Given the description of an element on the screen output the (x, y) to click on. 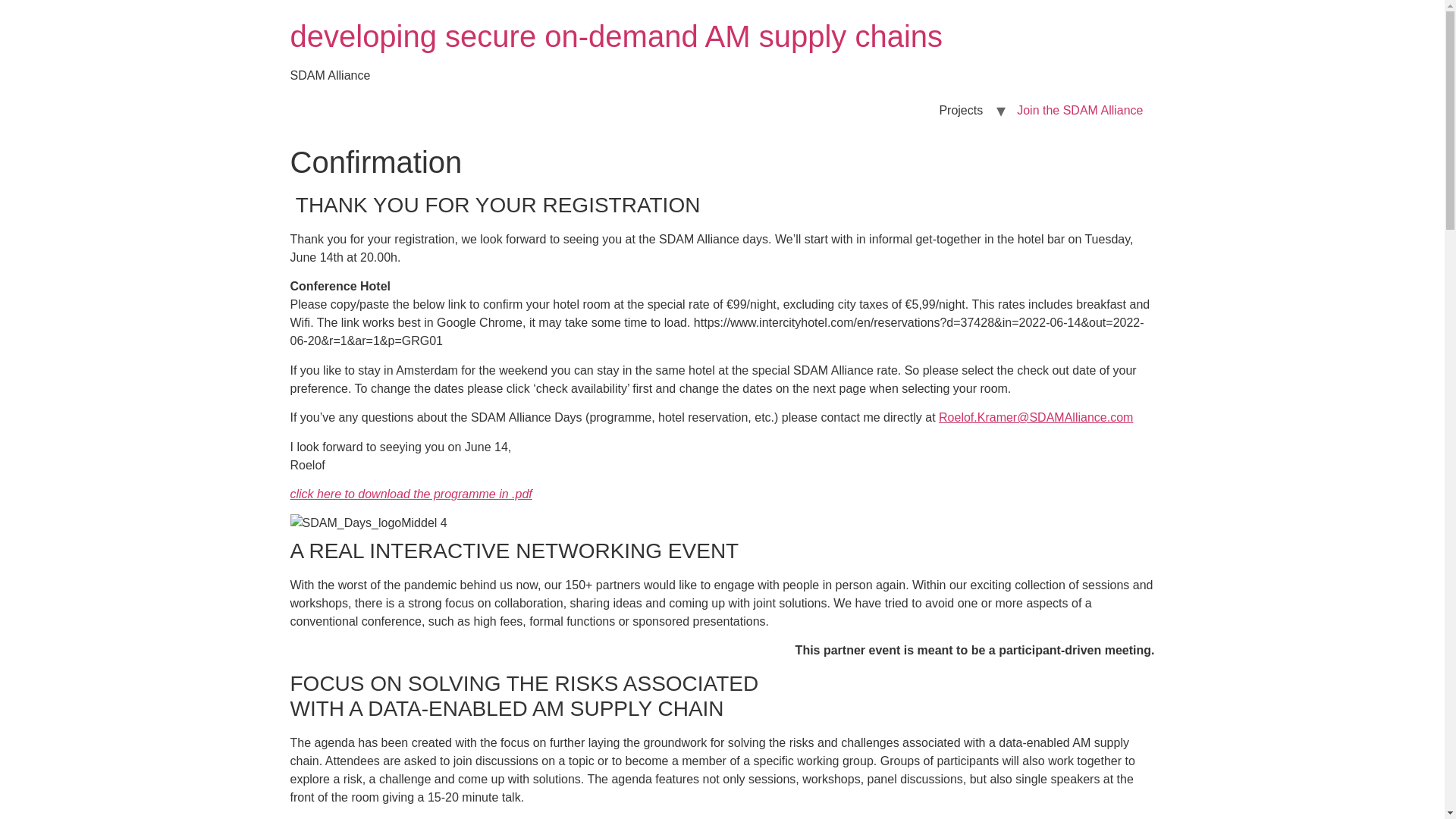
developing secure on-demand AM supply chains (615, 36)
click here to download the programme in .pdf (410, 493)
Join the SDAM Alliance (1080, 110)
Home (615, 36)
Projects (960, 110)
